Given the description of an element on the screen output the (x, y) to click on. 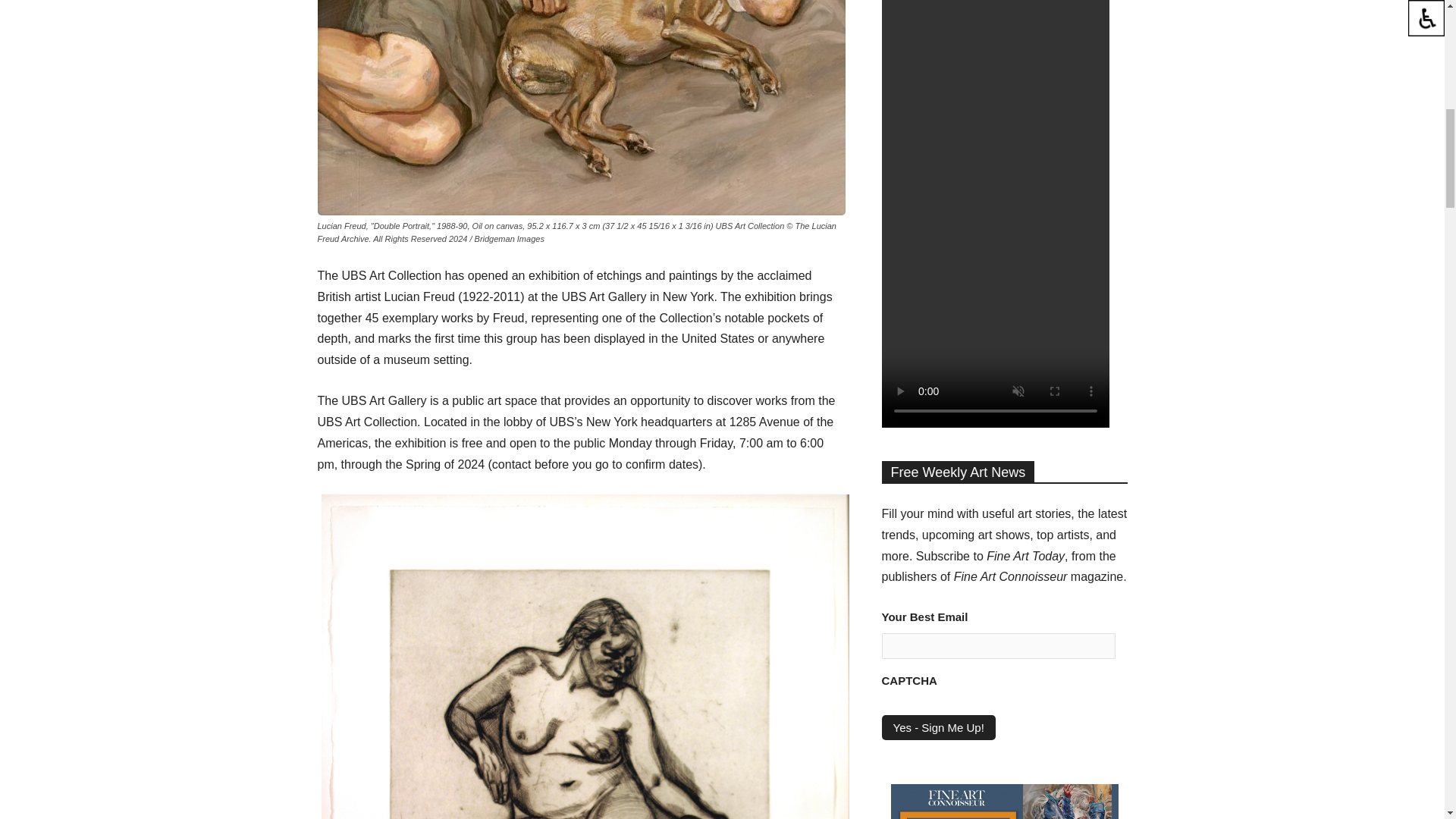
Lucian-Freud---Double-Portrait,-1988-90 (580, 107)
Yes - Sign Me Up! (937, 727)
